Given the description of an element on the screen output the (x, y) to click on. 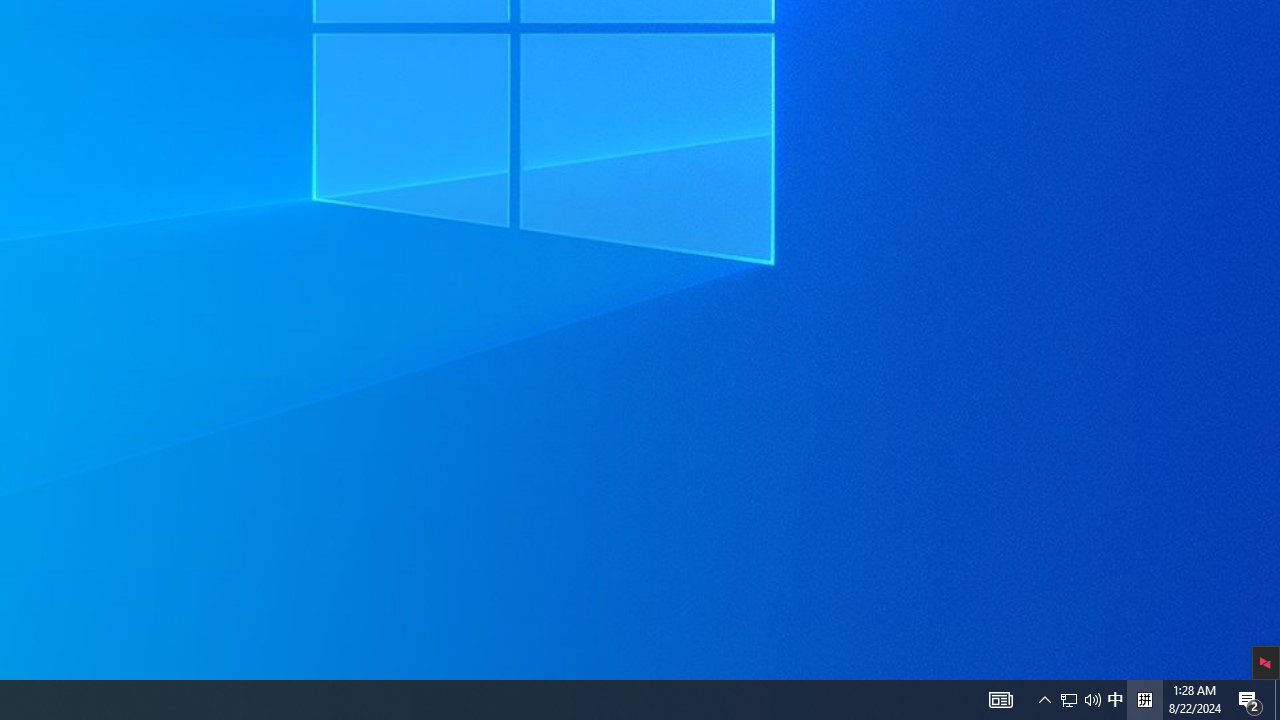
Notification Chevron (1044, 699)
Tray Input Indicator - Chinese (Simplified, China) (1144, 699)
Q2790: 100% (1092, 699)
User Promoted Notification Area (1080, 699)
Show desktop (1277, 699)
AutomationID: 4105 (1069, 699)
Action Center, 2 new notifications (1115, 699)
